Given the description of an element on the screen output the (x, y) to click on. 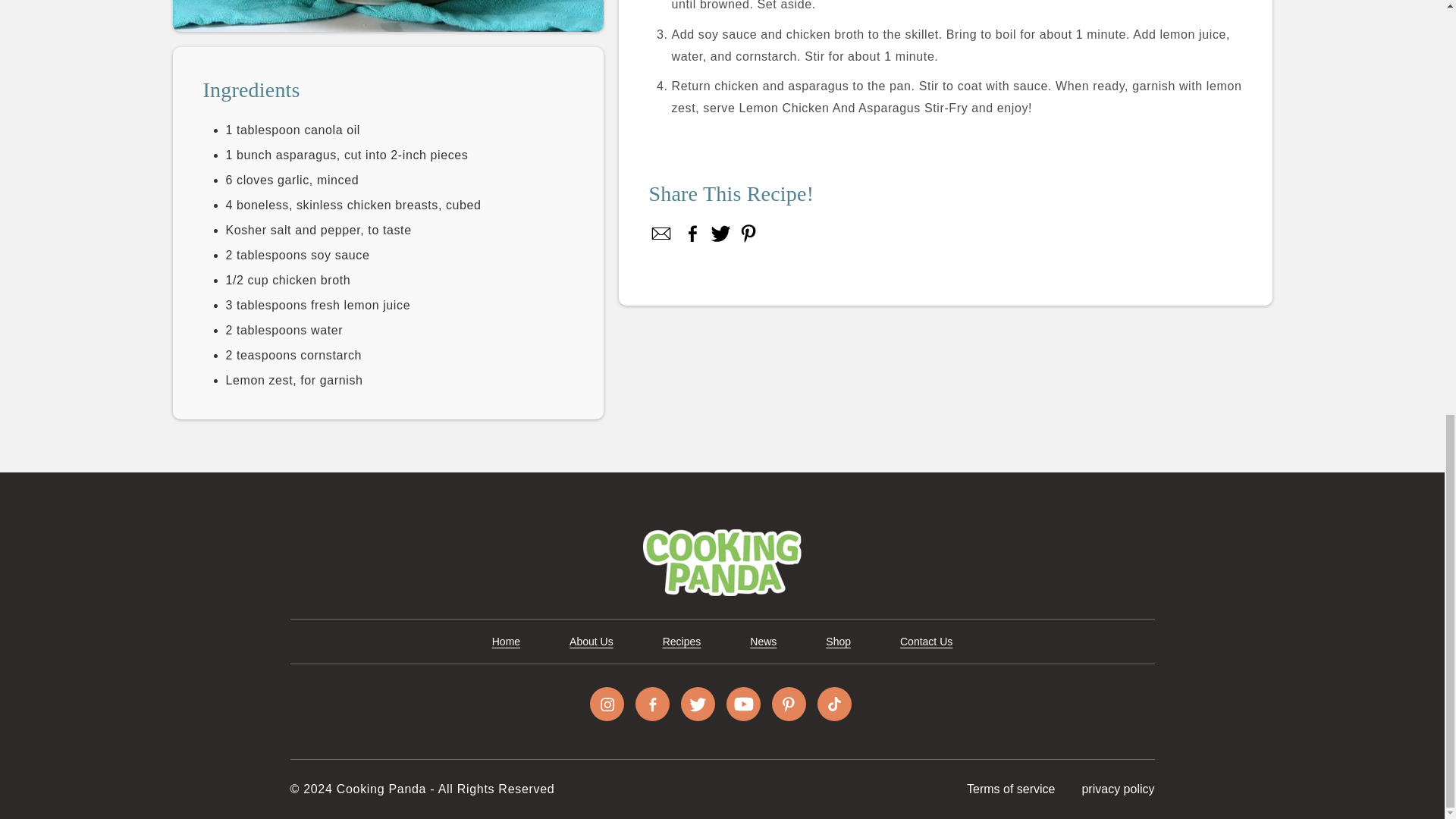
Facebook (692, 233)
Contact Us (925, 641)
Pinterest (748, 233)
Share on Facebook (692, 233)
Twitter (697, 704)
Facebook (651, 704)
About Us (590, 641)
Recipes (681, 641)
News (762, 641)
Shop (837, 641)
Home (505, 641)
Pin on Pinterest (748, 233)
Instagram (606, 704)
Share by Email (662, 232)
Twitter (720, 233)
